Given the description of an element on the screen output the (x, y) to click on. 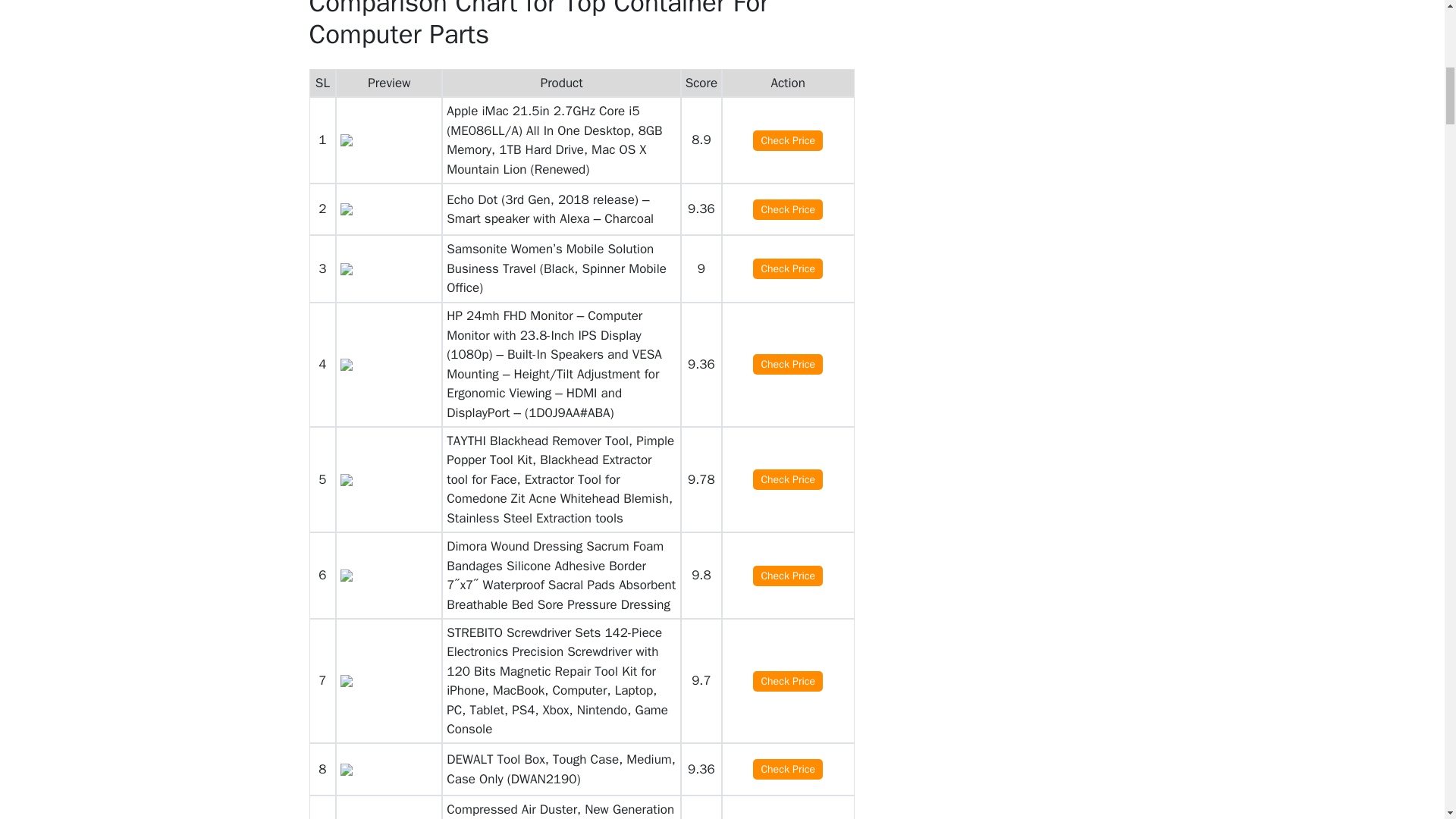
Check Price (787, 363)
Check Price (787, 140)
Check Price (787, 769)
Check Price (787, 209)
Check Price (787, 575)
Check Price (787, 268)
Check Price (787, 680)
Check Price (787, 479)
